Given the description of an element on the screen output the (x, y) to click on. 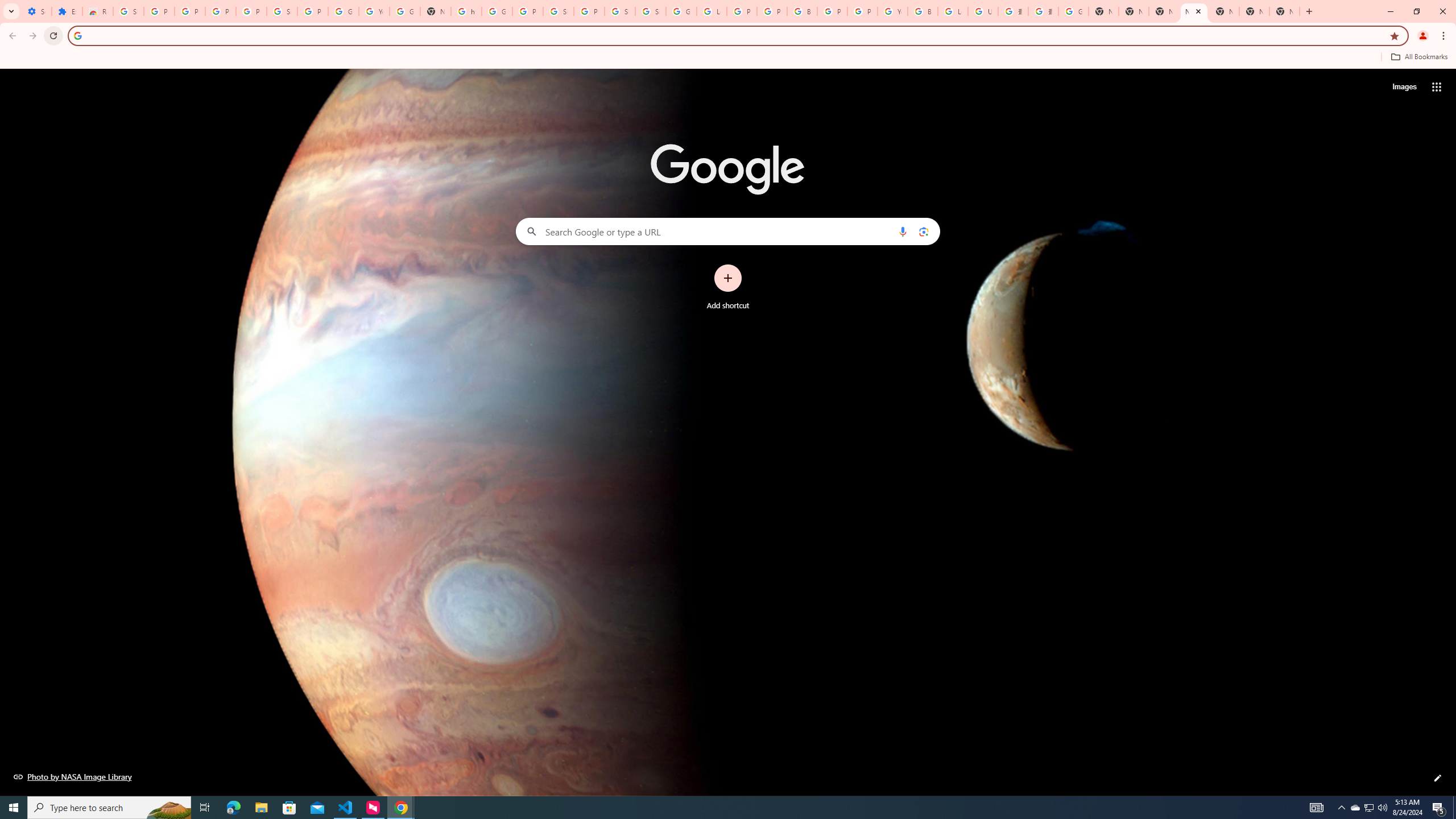
Sign in - Google Accounts (127, 11)
Settings - On startup (36, 11)
Customize this page (1437, 778)
